Given the description of an element on the screen output the (x, y) to click on. 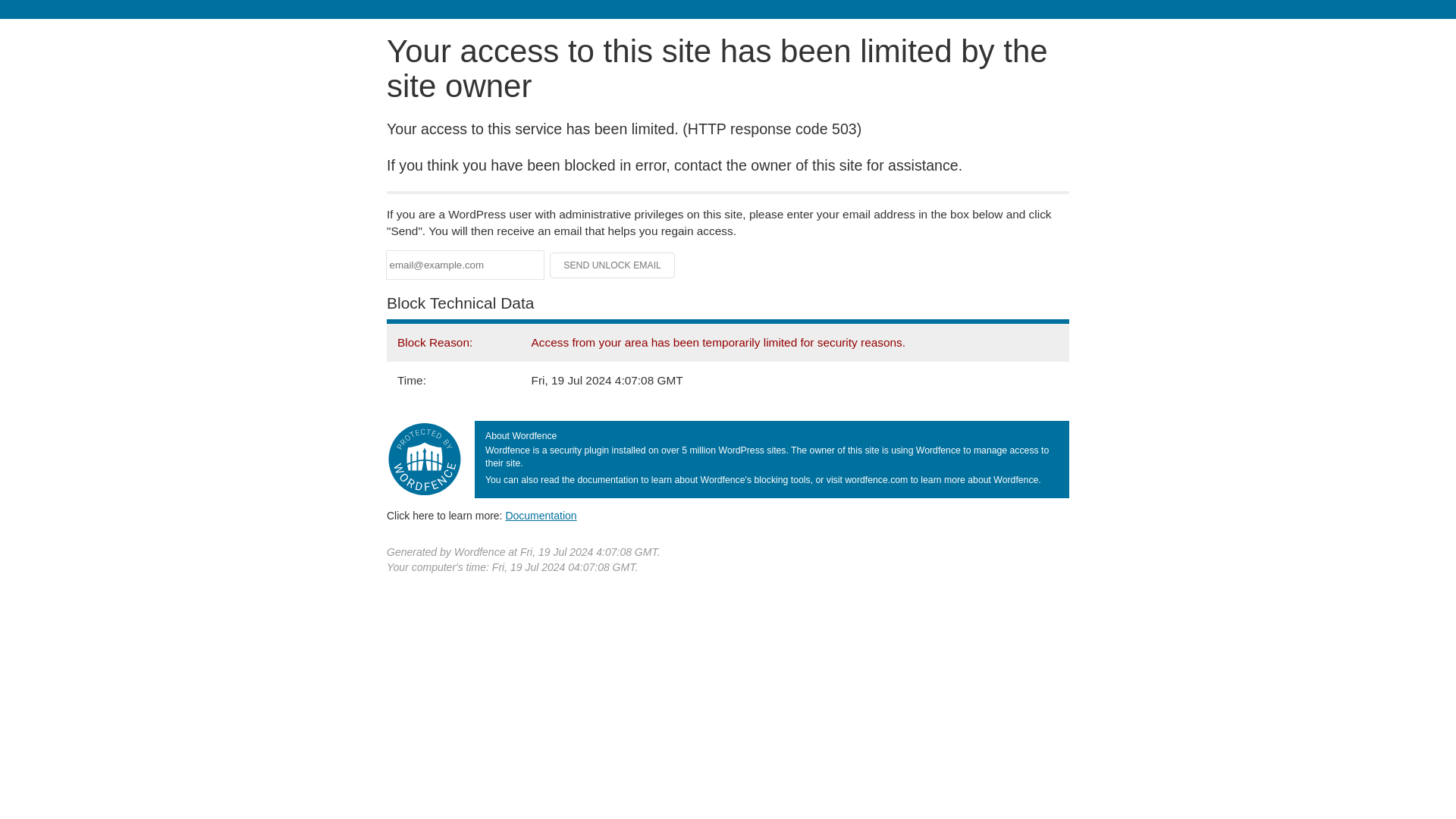
Documentation (540, 515)
Send Unlock Email (612, 265)
Send Unlock Email (612, 265)
